Given the description of an element on the screen output the (x, y) to click on. 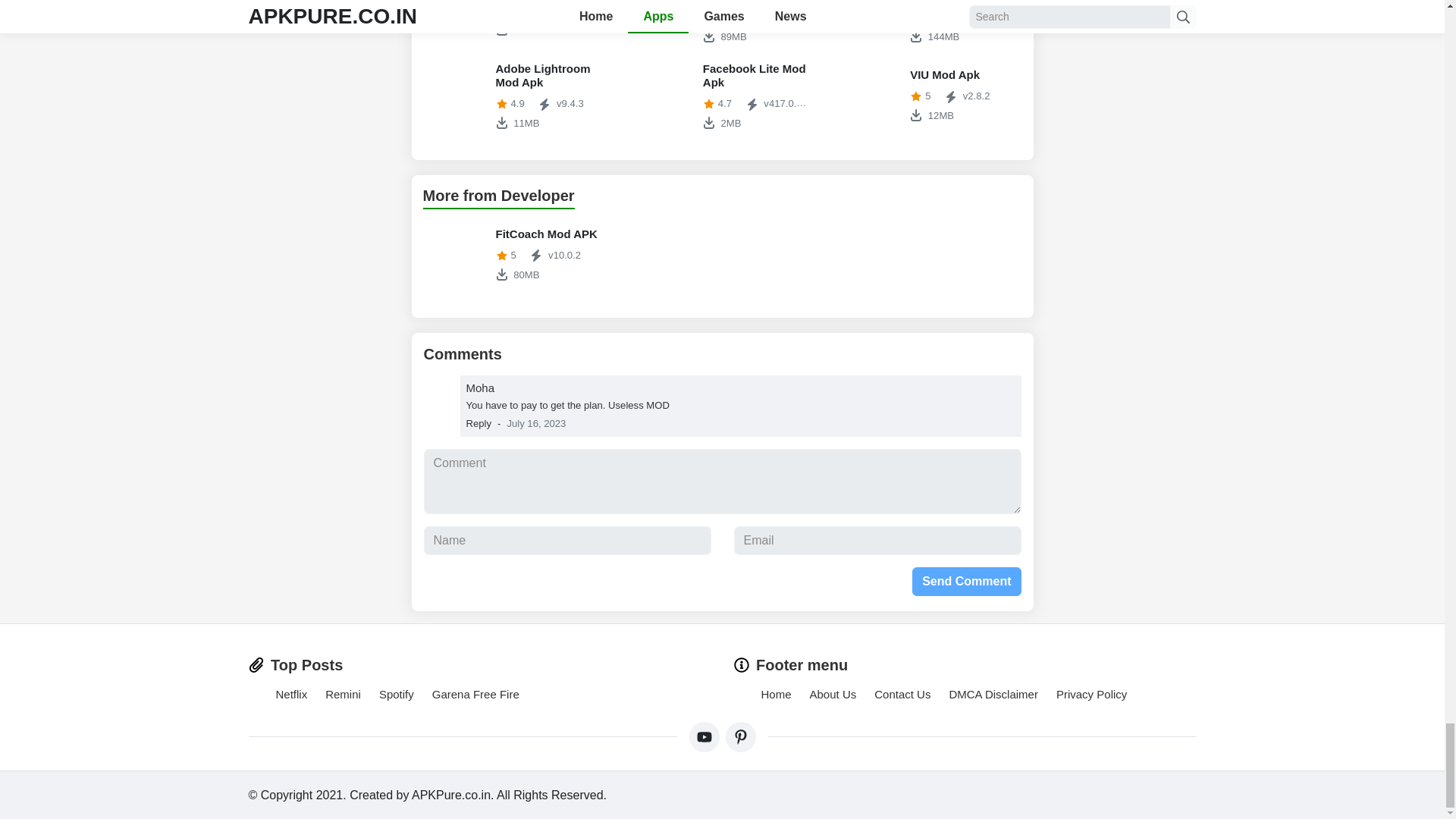
Send Comment (966, 581)
 YouCam Perfect Mod Apk (515, 21)
 Adobe Lightroom Mod Apk (515, 254)
 YouCam Perfect Mod Apk (663, 21)
 VIU Mod Apk (456, 96)
 Youtube Premium Mod Apk (721, 22)
 Facebook Lite Mod Apk (929, 95)
Netflix (929, 95)
Reply (870, 21)
Garena Free Fire (929, 22)
